Given the description of an element on the screen output the (x, y) to click on. 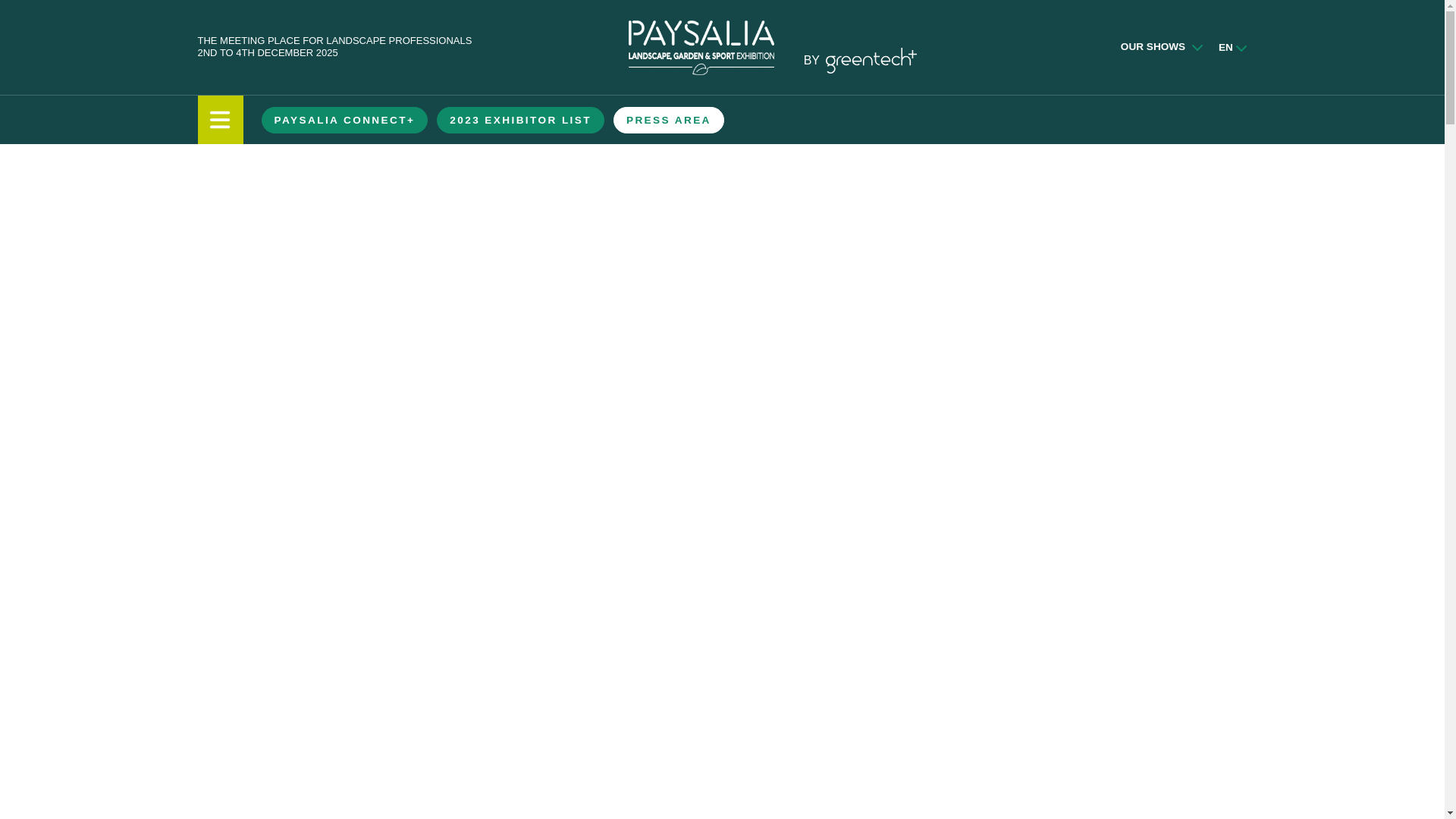
2023 EXHIBITOR LIST (520, 119)
PRESS AREA (668, 119)
Greentech logo (871, 59)
EN (1225, 46)
logo paysalian baseline GB (700, 46)
